Given the description of an element on the screen output the (x, y) to click on. 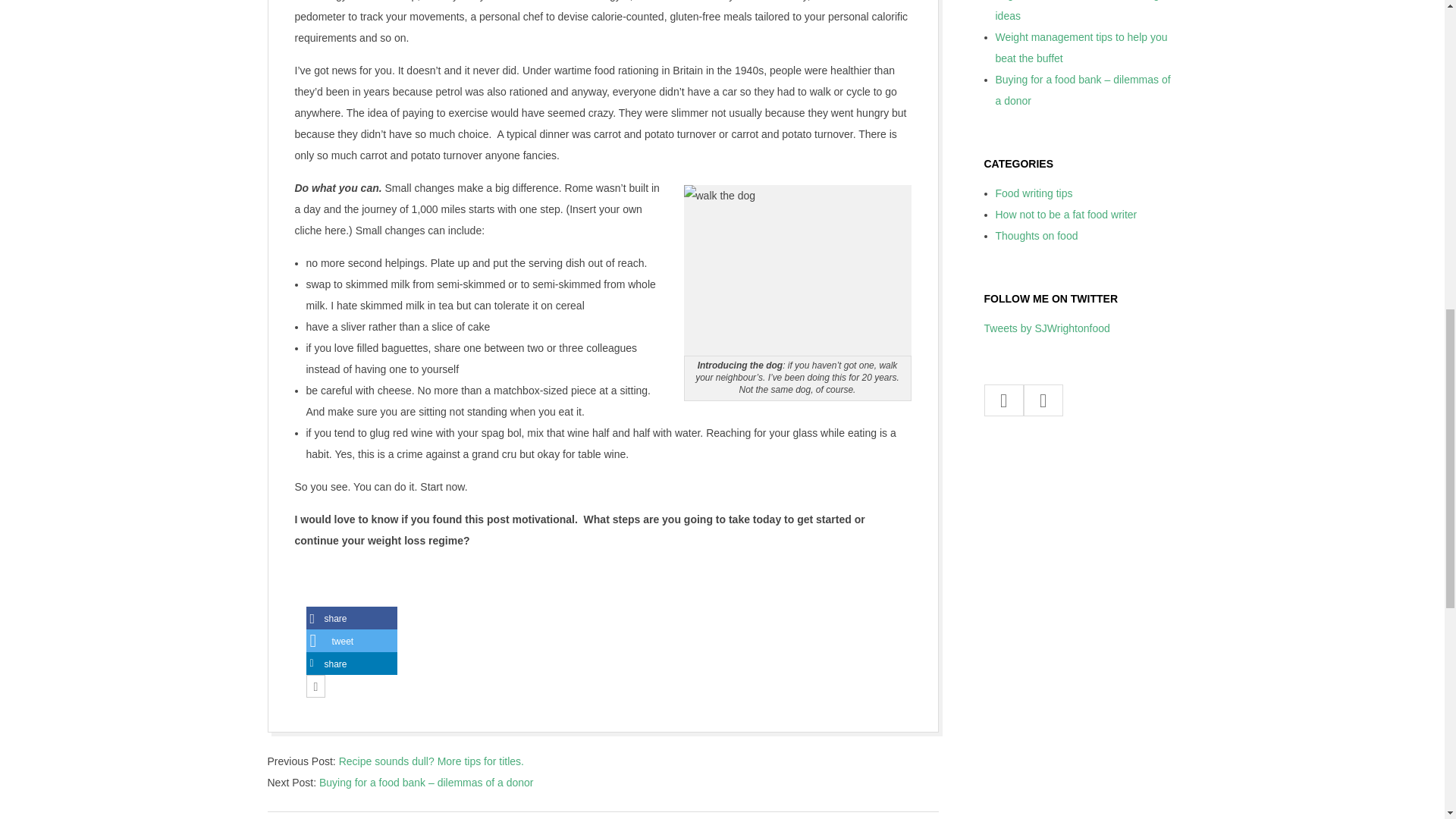
Share on Twitter (351, 640)
Info (314, 686)
tweet (351, 640)
Food writing tips (1032, 193)
share (351, 617)
Share on LinkedIn (351, 663)
more information (314, 686)
Weight management tips to help you beat the buffet (1080, 47)
How not to be a fat food writer (1065, 214)
Share on Facebook (351, 617)
Thoughts on food (1035, 235)
Recipe sounds dull? More tips for titles. (431, 761)
Tweets by SJWrightonfood (1046, 328)
share (351, 663)
Veg and fruit. Stem-to-root cooking ideas (1076, 11)
